Given the description of an element on the screen output the (x, y) to click on. 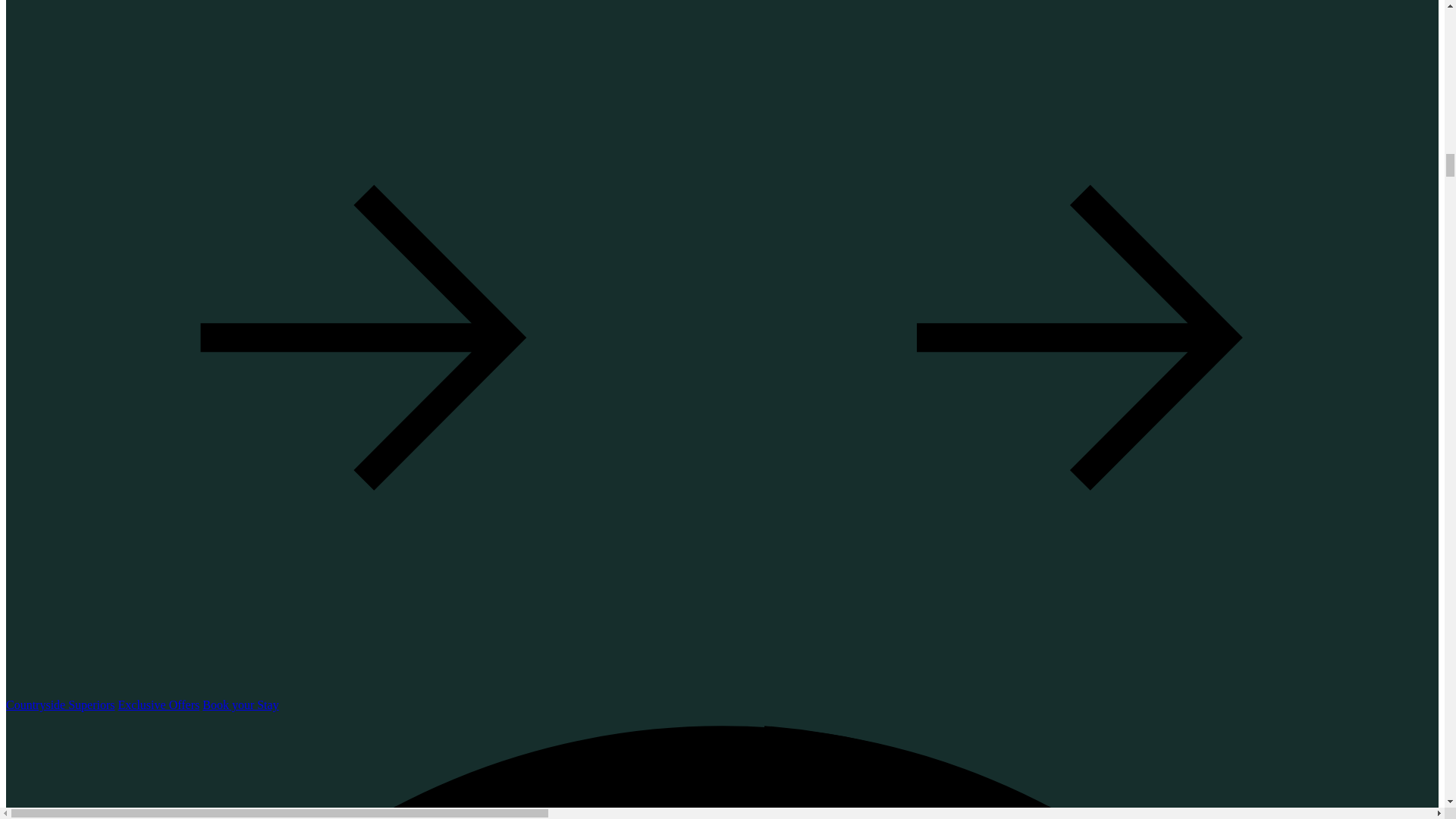
Exclusive Offers (158, 704)
Countryside Superiors (60, 704)
